Given the description of an element on the screen output the (x, y) to click on. 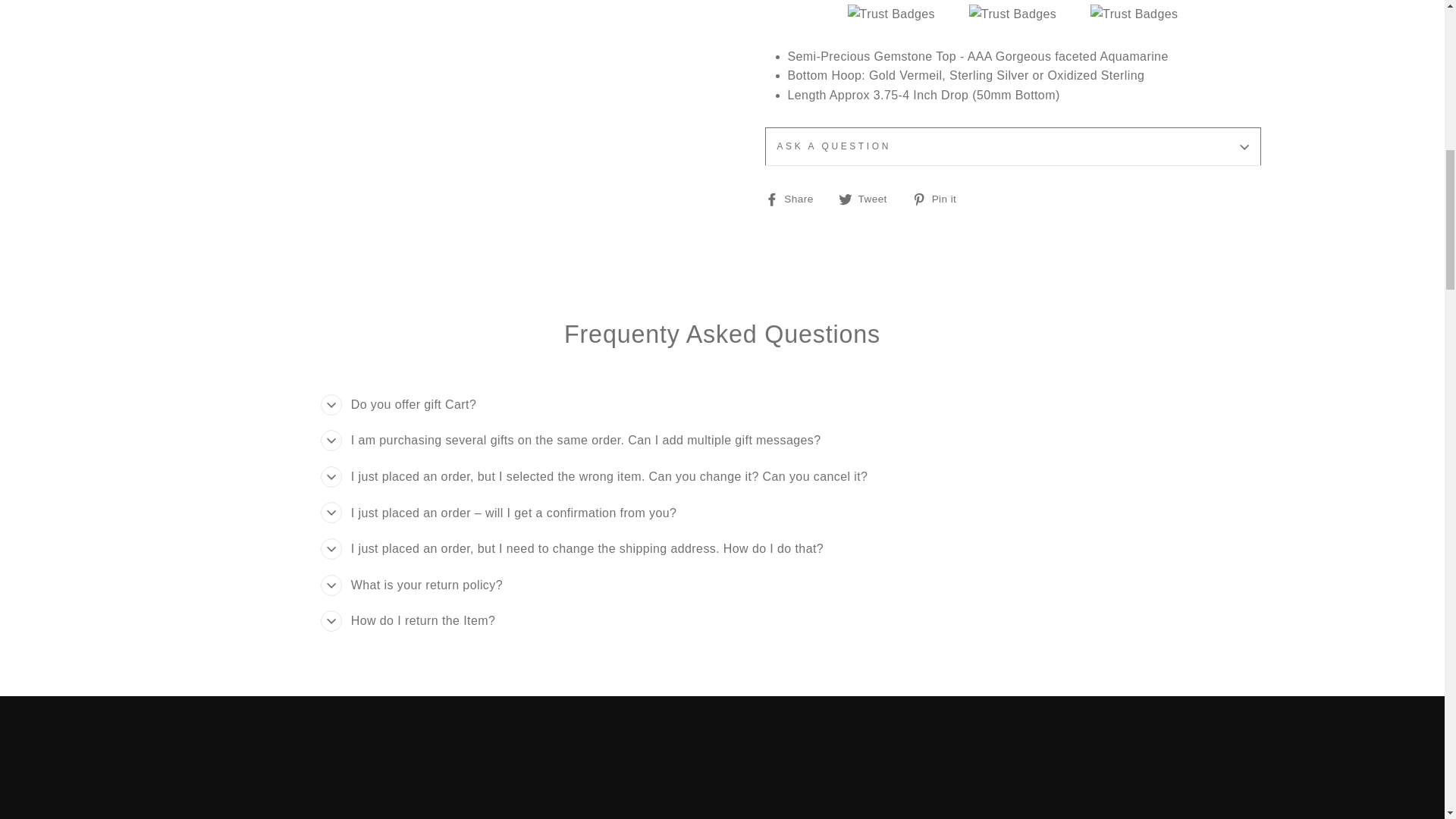
Pin on Pinterest (940, 198)
Tweet on Twitter (868, 198)
Share on Facebook (794, 198)
